Given the description of an element on the screen output the (x, y) to click on. 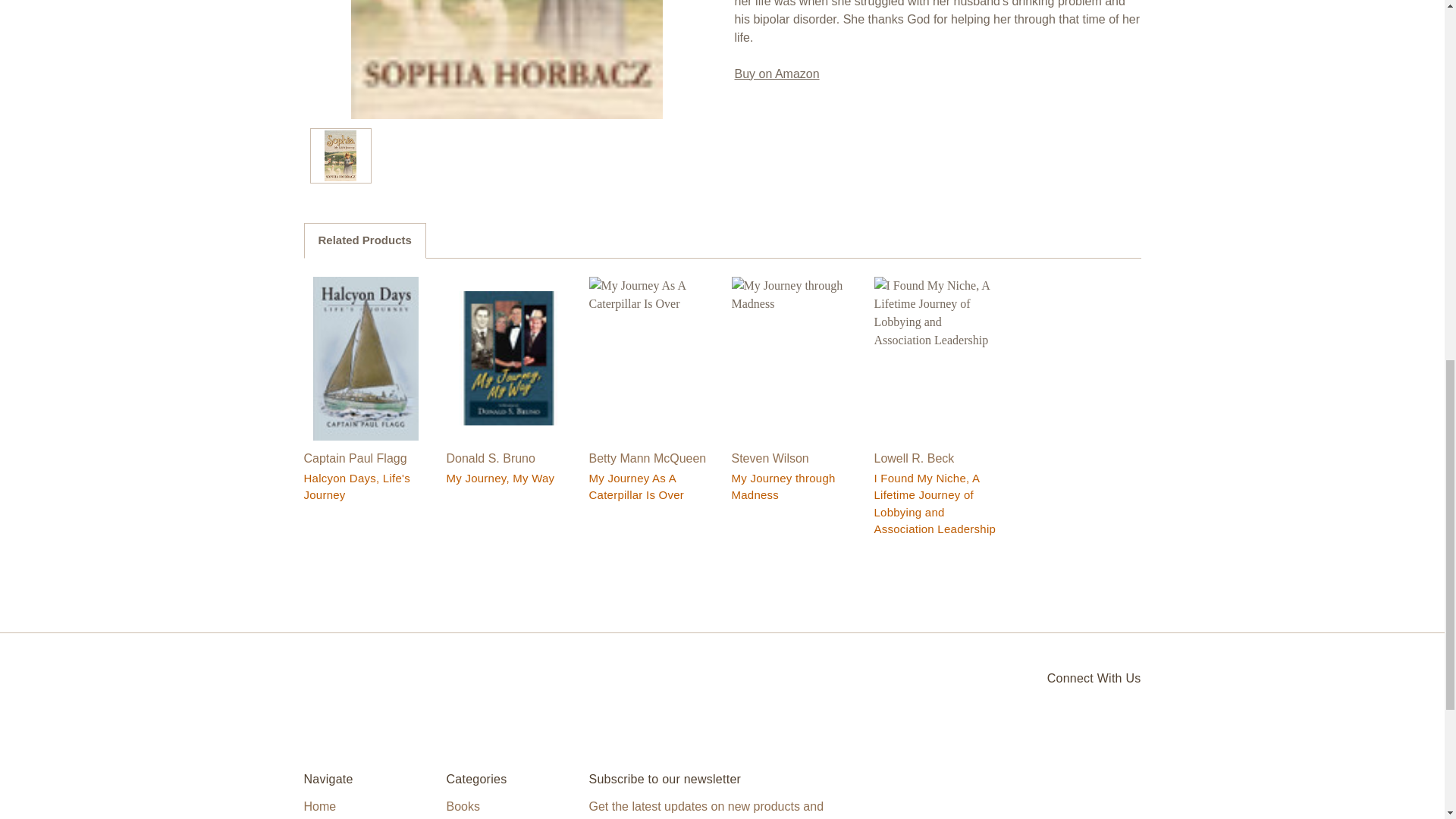
My Journey through Madness (793, 357)
Sophia, My Life's Journey (340, 155)
My Journey, My Way (507, 358)
Sophia, My Life's Journey (506, 59)
Halcyon Days, Life's Journey (365, 357)
 Sophia, My Life's Journey (775, 72)
My Journey As A Caterpillar Is Over (650, 357)
